Given the description of an element on the screen output the (x, y) to click on. 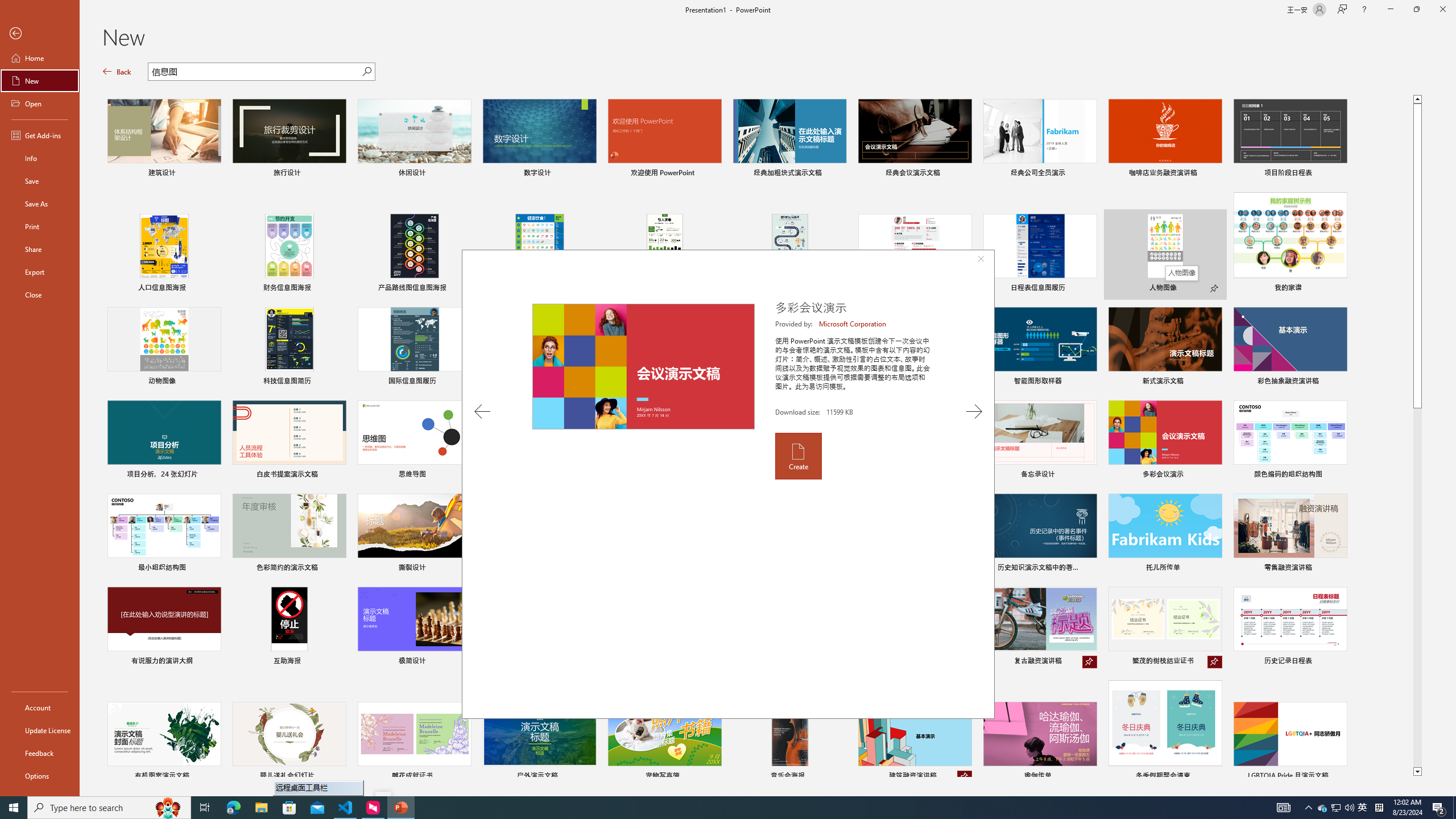
Search for online templates and themes (254, 73)
Export (40, 271)
Start searching (366, 71)
